Given the description of an element on the screen output the (x, y) to click on. 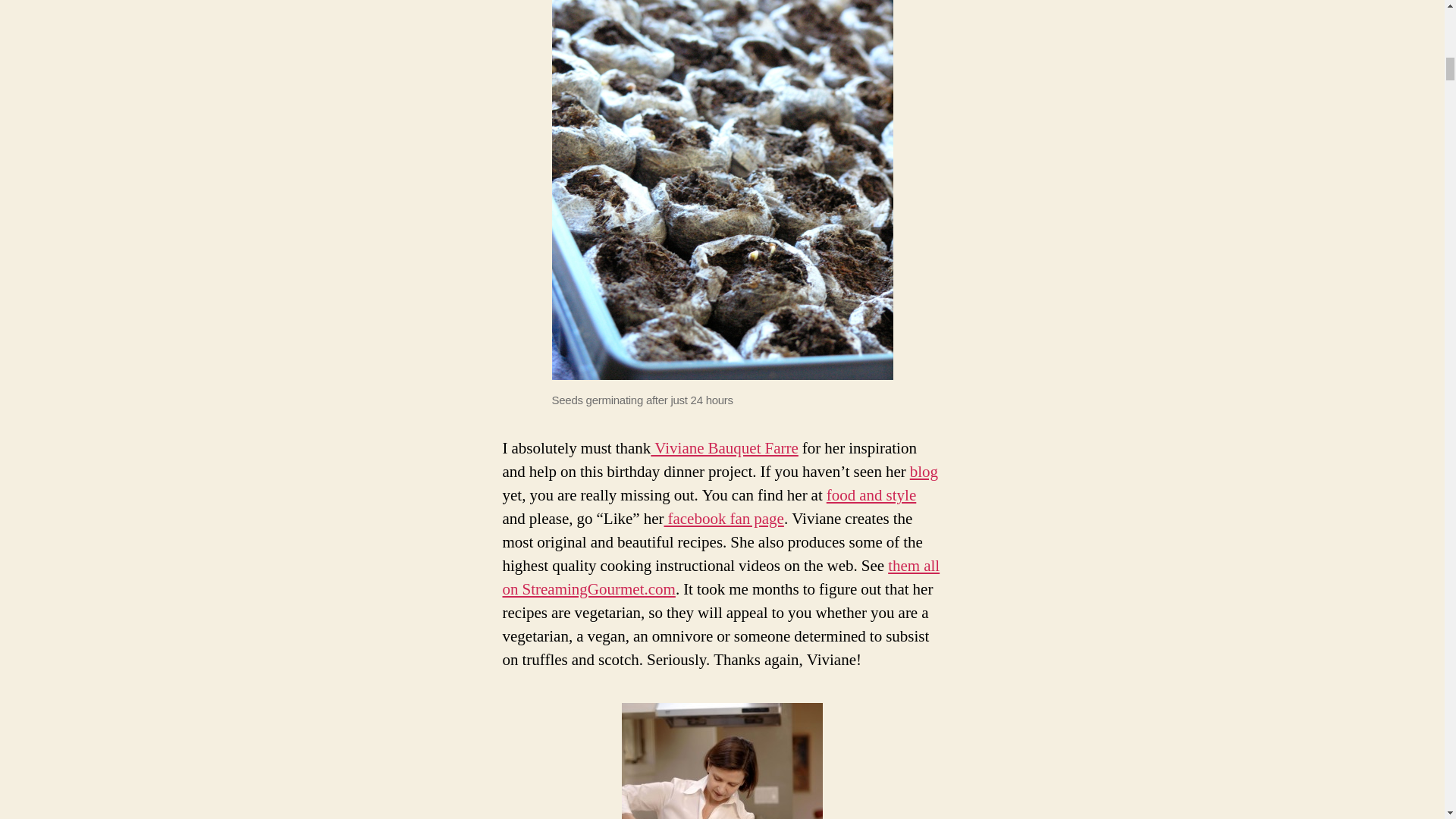
Viviane-pepper mill-low res (721, 760)
P4305300 (722, 190)
